Given the description of an element on the screen output the (x, y) to click on. 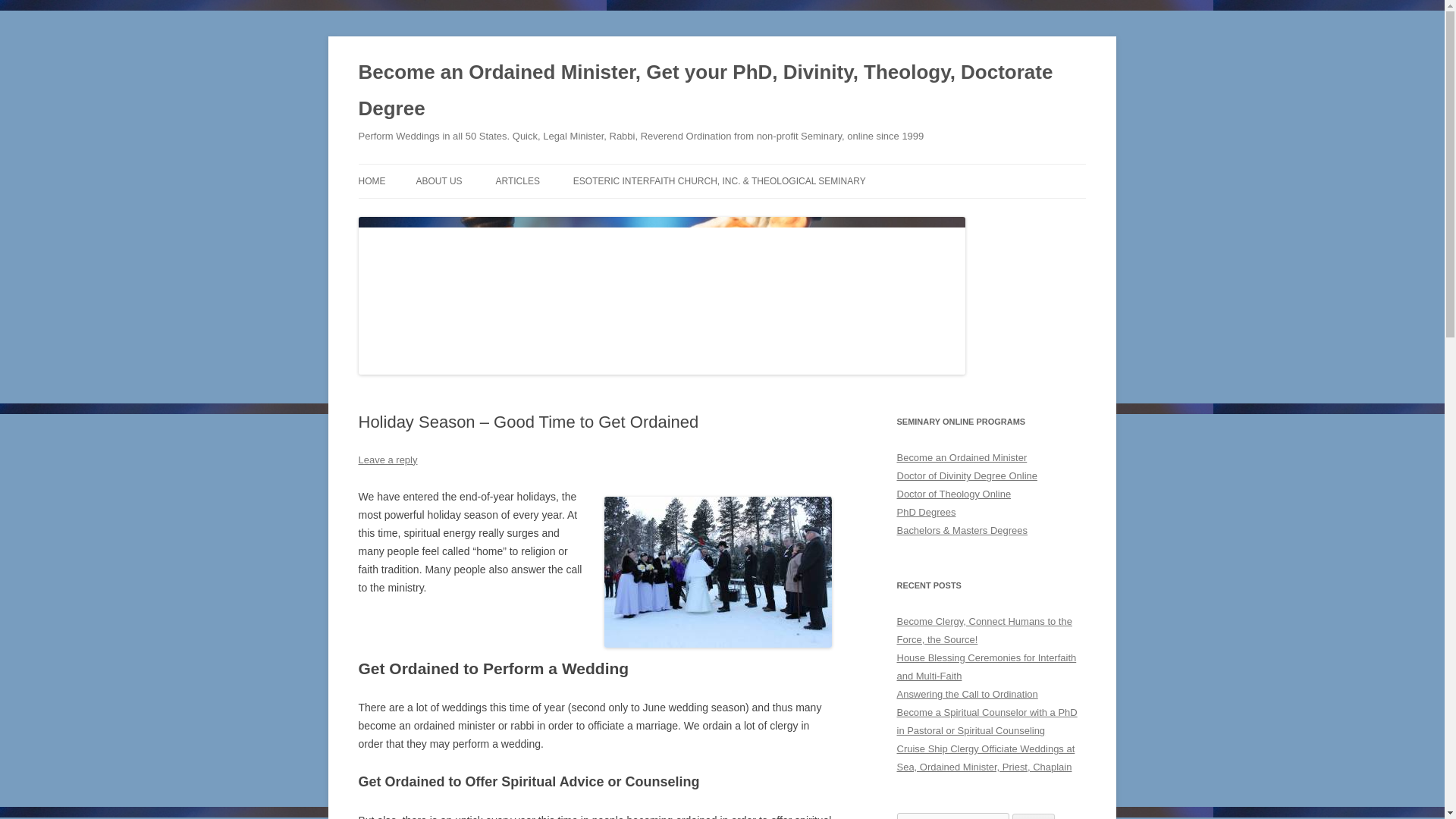
PhD Degrees (925, 511)
Answering the Call to Ordination (966, 694)
ARTICLES (516, 181)
Doctor of Divinity Degree Online (966, 475)
House Blessing Ceremonies for Interfaith and Multi-Faith (985, 666)
ABOUT US (437, 181)
FAQ (649, 213)
Become an Ordained Minister (961, 457)
Leave a reply (387, 460)
Become Clergy, Connect Humans to the Force, the Source! (983, 630)
Doctor of Theology Online (953, 493)
